Given the description of an element on the screen output the (x, y) to click on. 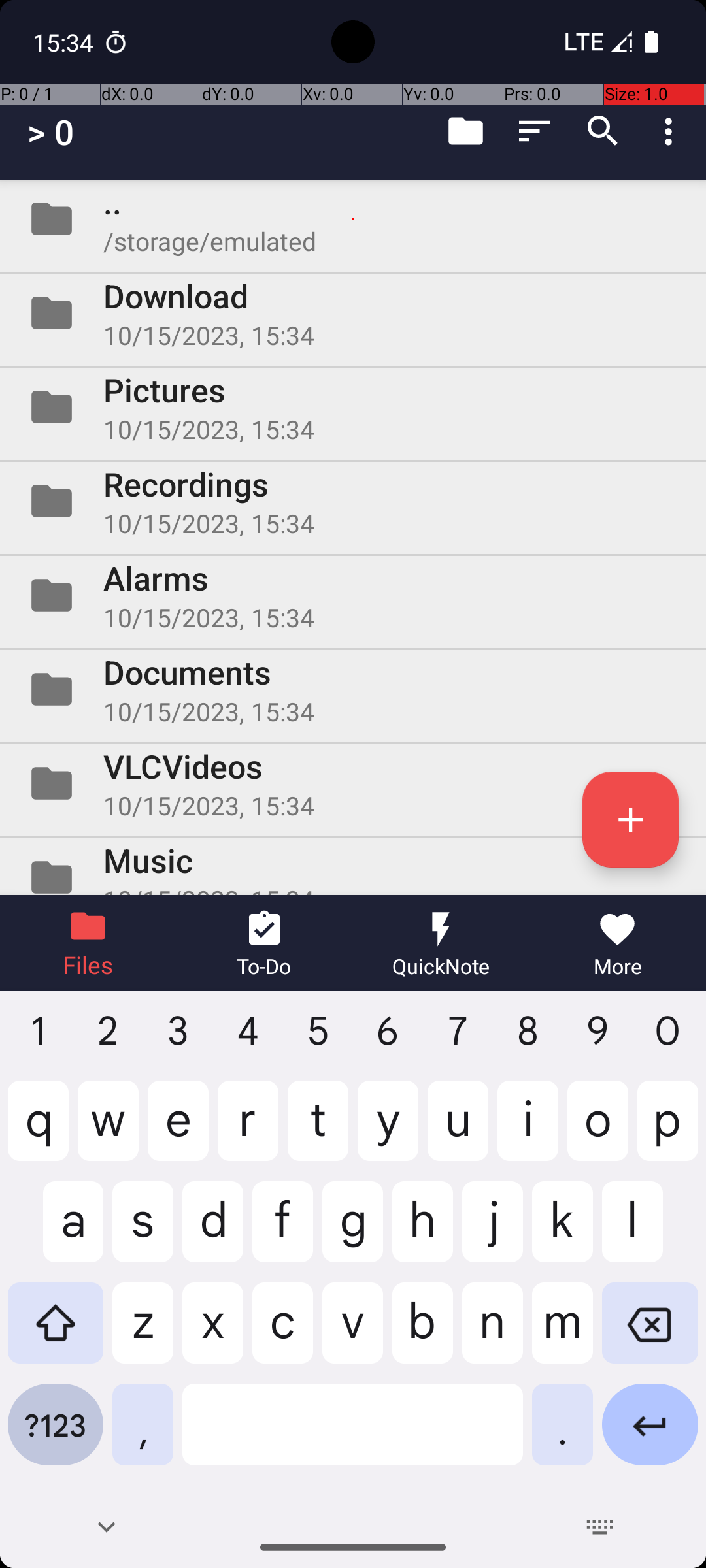
> 0 Element type: android.widget.TextView (50, 131)
Folder .. /storage/emulated/0 Element type: android.widget.LinearLayout (353, 218)
Folder Download 10/15/2023, 15:34 Element type: android.widget.LinearLayout (353, 312)
Folder Pictures 10/15/2023, 15:34 Element type: android.widget.LinearLayout (353, 406)
Folder Recordings  Element type: android.widget.LinearLayout (353, 500)
Folder Alarms  Element type: android.widget.LinearLayout (353, 594)
Folder Documents  Element type: android.widget.LinearLayout (353, 689)
Folder VLCVideos  Element type: android.widget.LinearLayout (353, 783)
Folder Music  Element type: android.widget.LinearLayout (353, 866)
